Given the description of an element on the screen output the (x, y) to click on. 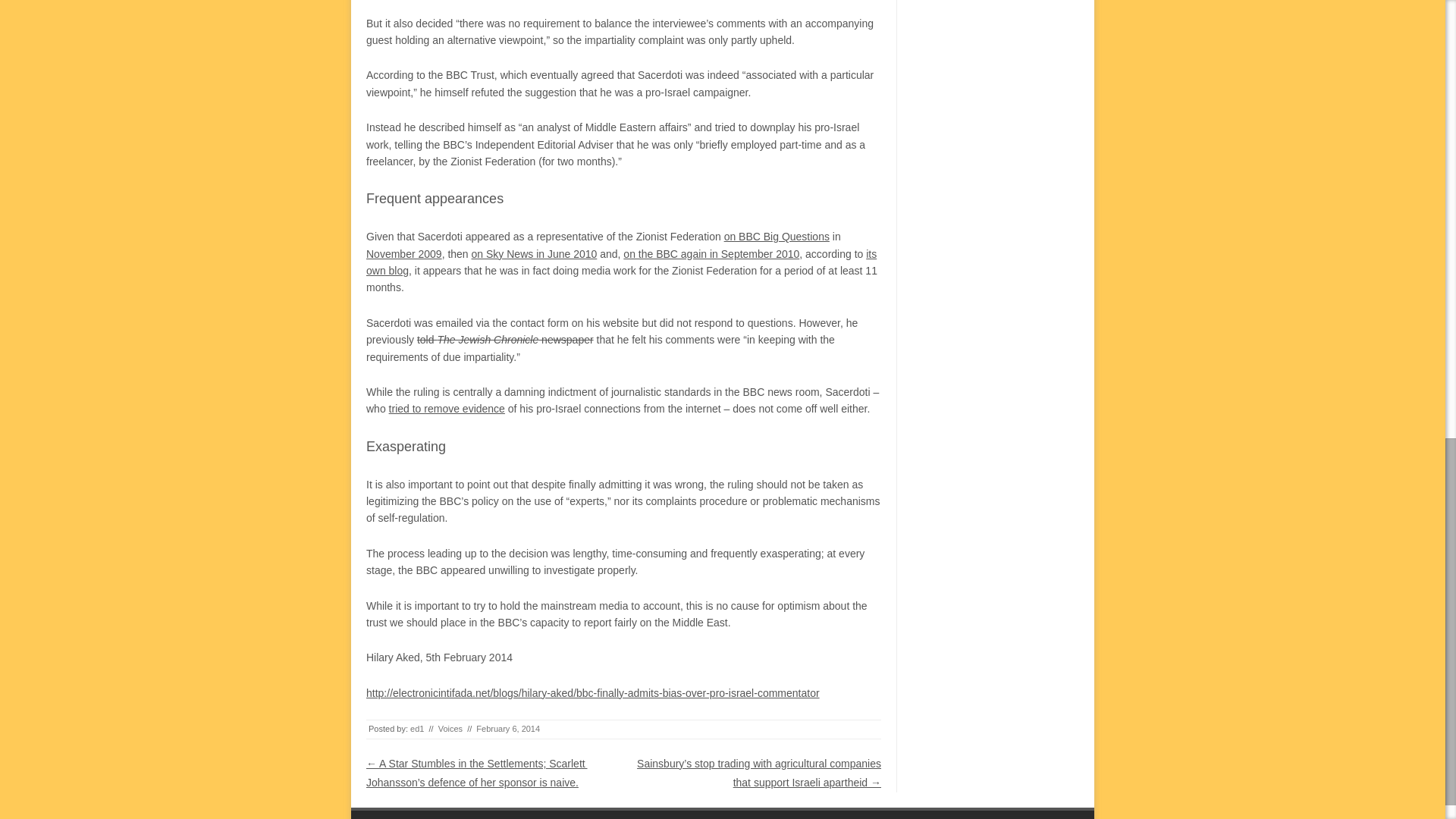
BBC finally admist Bias (592, 693)
its own blog (621, 262)
November 2009 (404, 254)
tried to remove evidence (446, 408)
Voices (450, 728)
on Sky News in June 2010 (533, 254)
told The Jewish Chronicle newspaper (505, 339)
on the BBC again in September 2010 (711, 254)
on BBC Big Questions (776, 236)
View all posts by ed1 (416, 728)
